Given the description of an element on the screen output the (x, y) to click on. 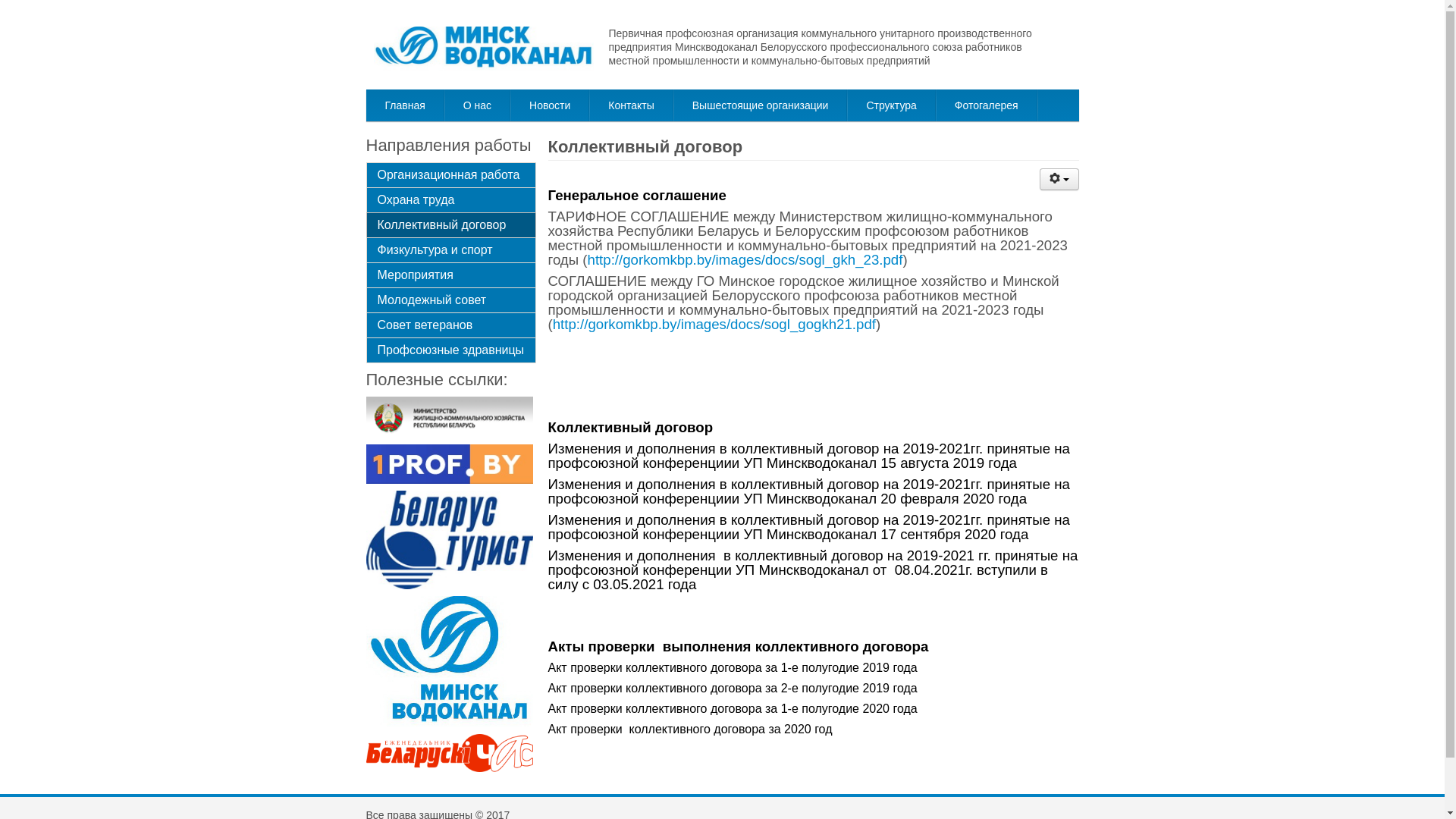
http://gorkomkbp.by/images/docs/sogl_gogkh21.pdf Element type: text (713, 324)
http://gorkomkbp.by/images/docs/sogl_gkh_23.pdf Element type: text (745, 259)
